Given the description of an element on the screen output the (x, y) to click on. 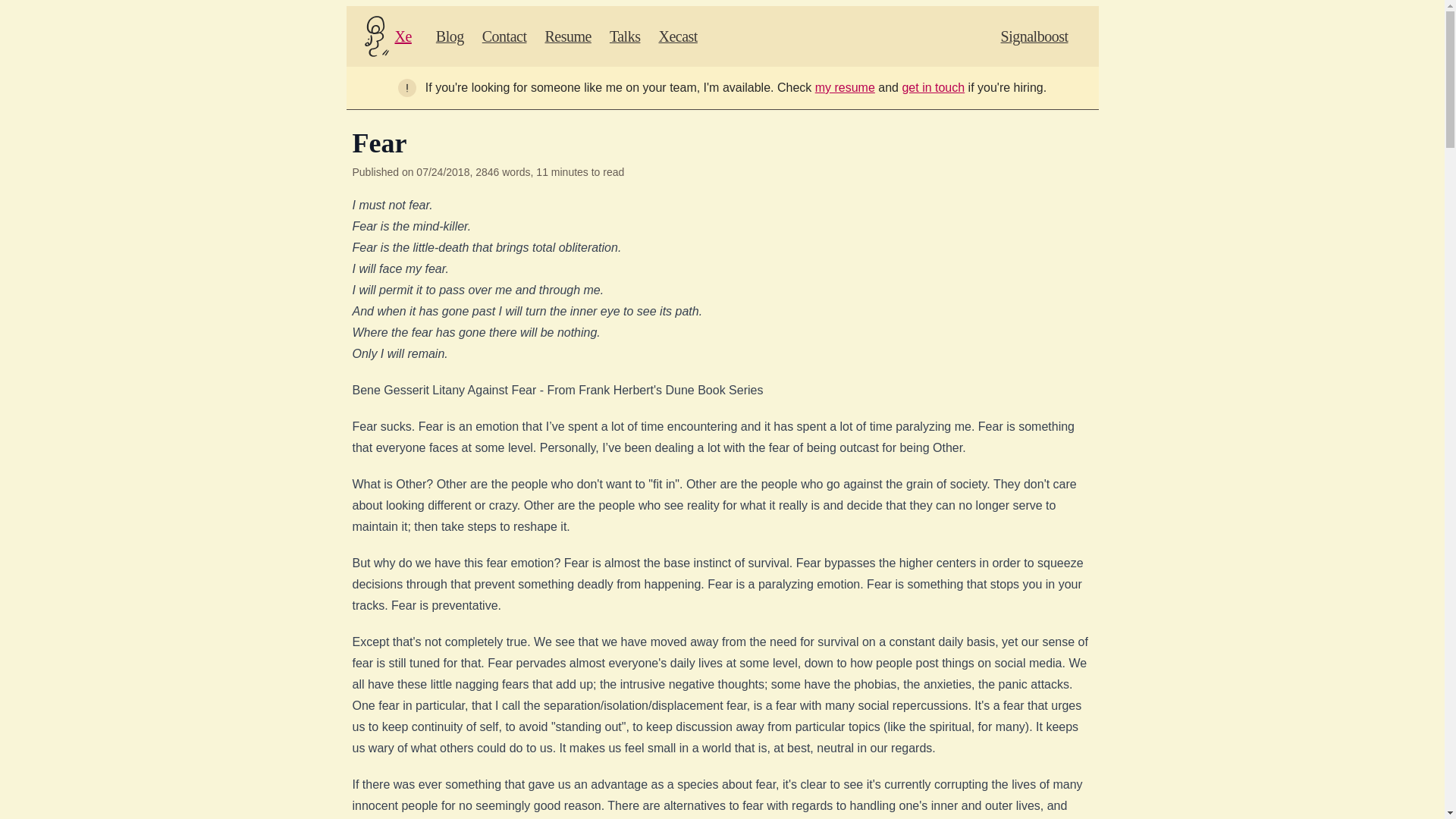
Resume (567, 36)
Talks (625, 36)
Contact (504, 36)
Blog (449, 36)
Xecast (677, 36)
